Given the description of an element on the screen output the (x, y) to click on. 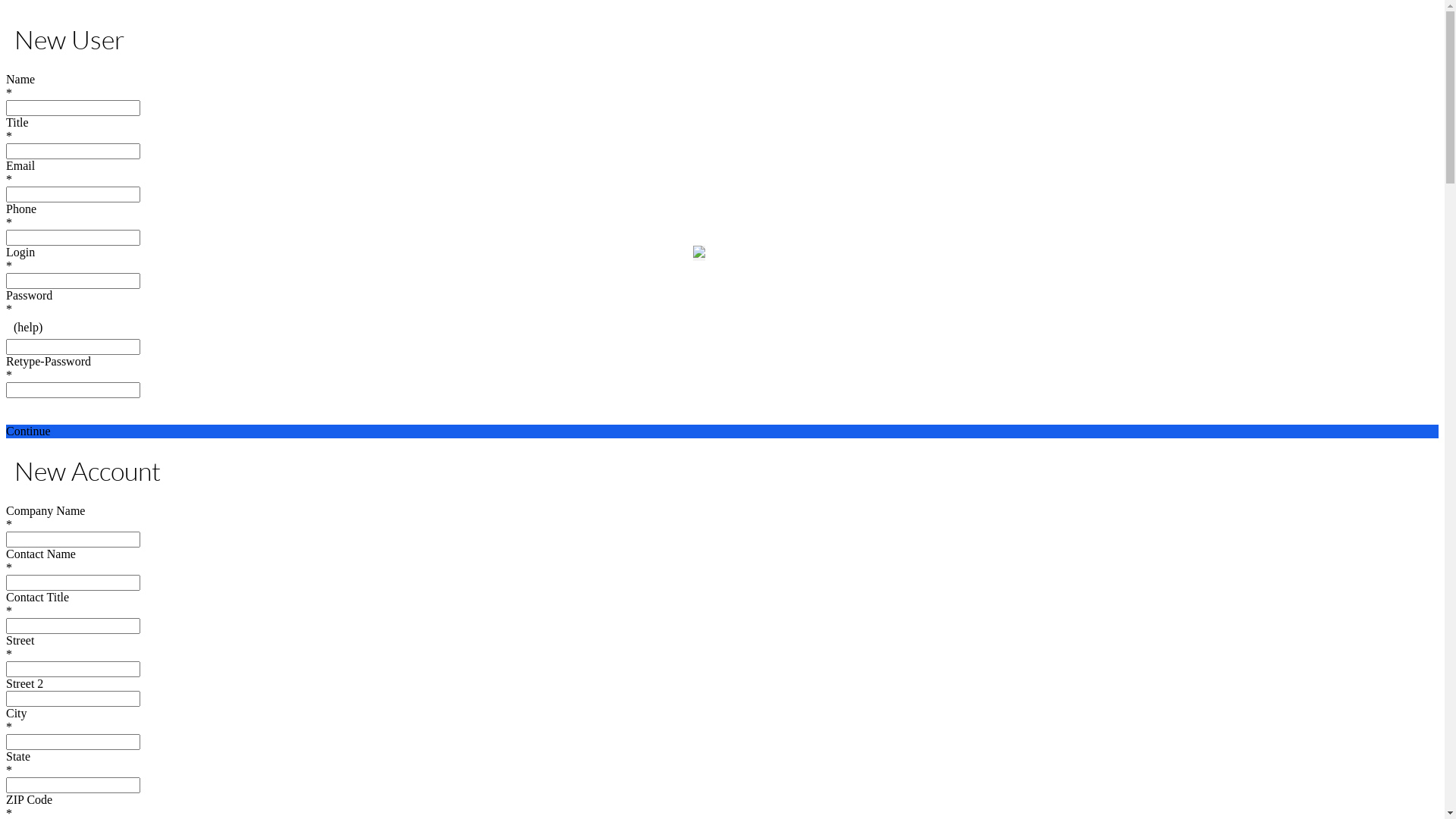
Continue Element type: text (722, 431)
